Given the description of an element on the screen output the (x, y) to click on. 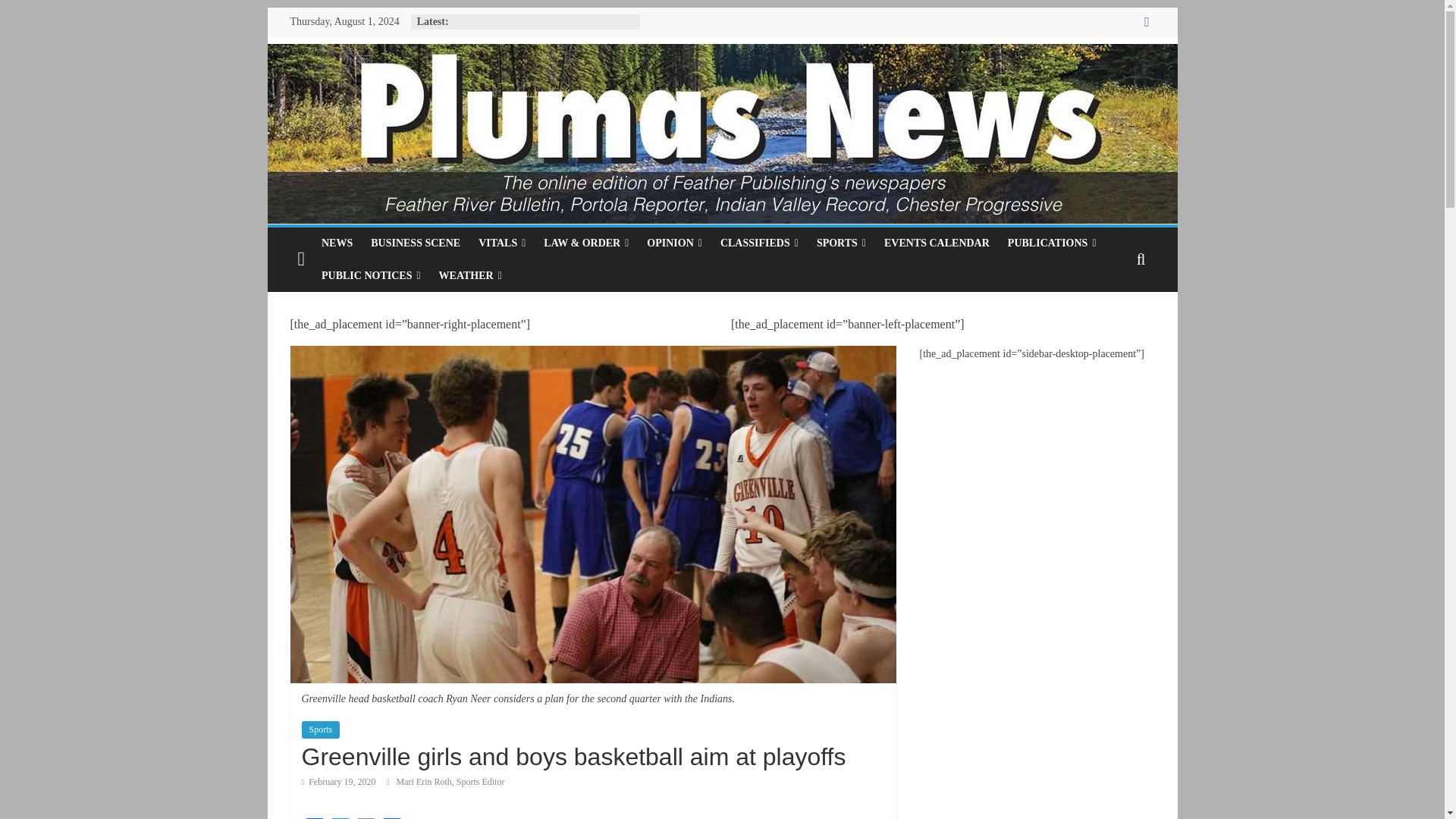
SPORTS (841, 243)
PUBLICATIONS (1051, 243)
Mari Erin Roth, Sports Editor (450, 781)
EVENTS CALENDAR (936, 243)
NEWS (337, 243)
CLASSIFIEDS (759, 243)
VITALS (501, 243)
BUSINESS SCENE (414, 243)
8:46 am (338, 781)
OPINION (674, 243)
